Given the description of an element on the screen output the (x, y) to click on. 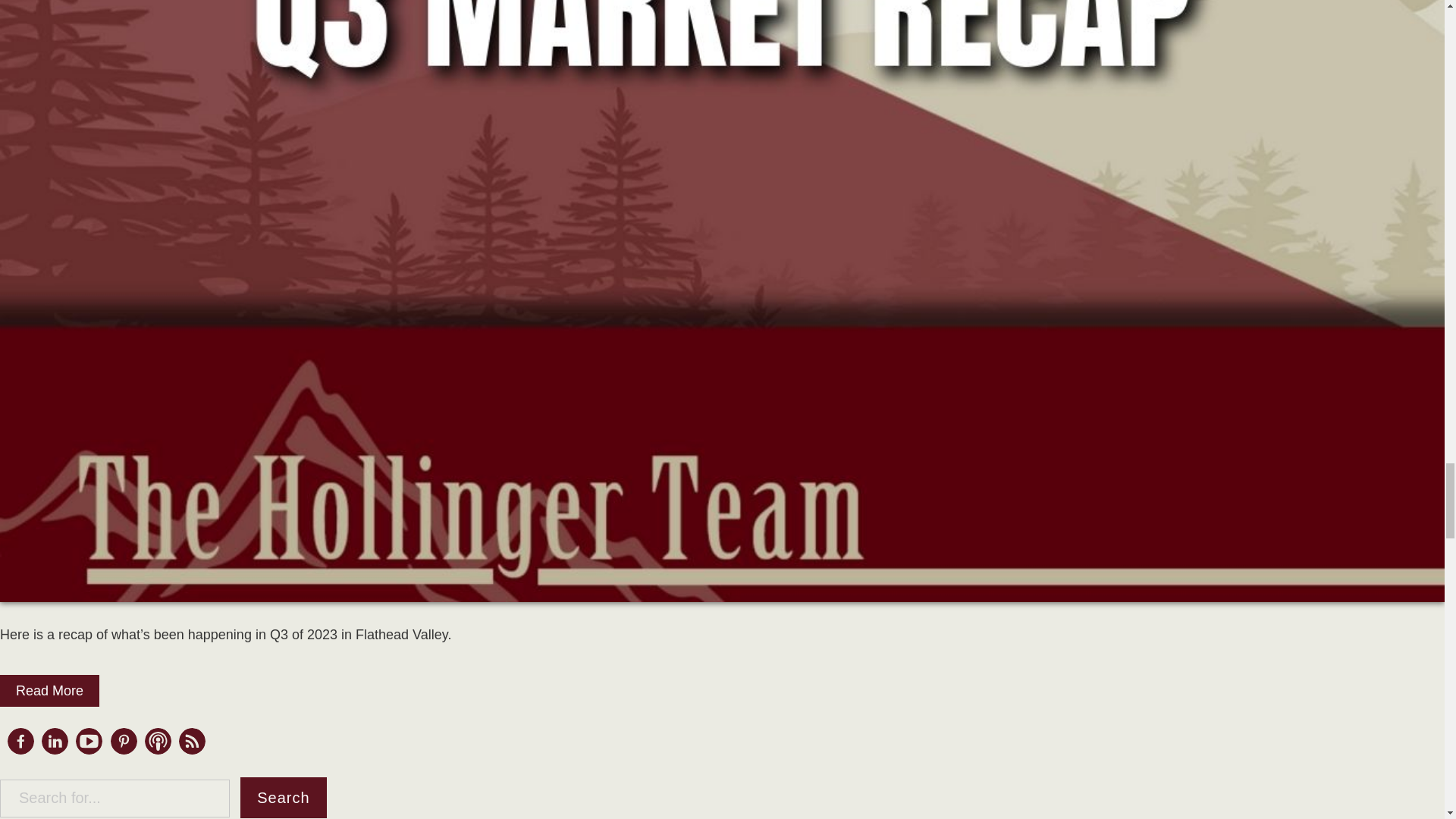
Podcast (157, 741)
Linkedin (55, 741)
Facbook (20, 749)
rss (192, 741)
YouTube (88, 741)
Pinterest (123, 741)
Linkedin (55, 749)
Read More (49, 690)
YouTube (88, 749)
Facbook (20, 741)
